Given the description of an element on the screen output the (x, y) to click on. 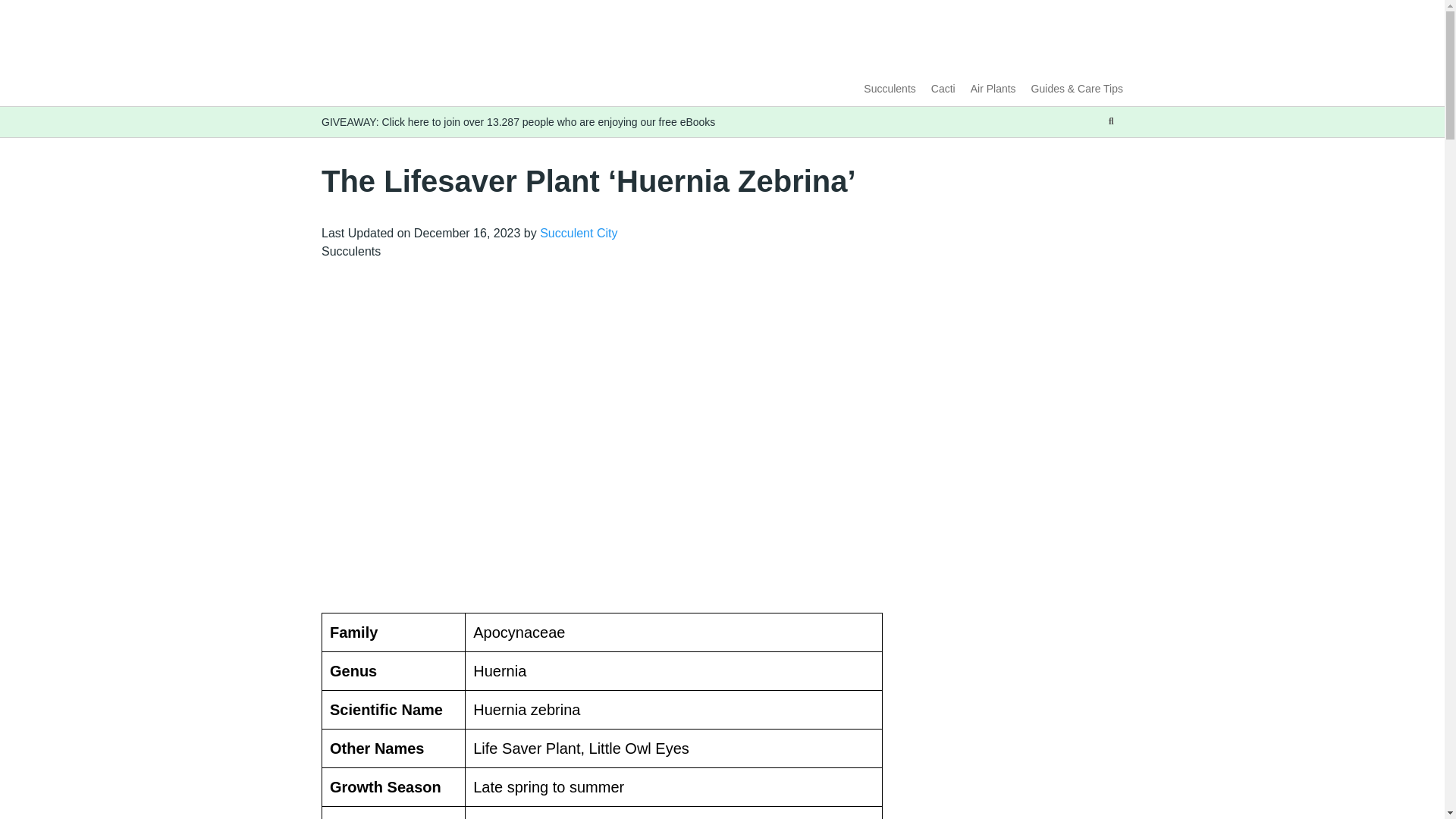
Succulent City (578, 232)
Air Plants (993, 89)
Succulents (889, 89)
Cacti (943, 89)
